Given the description of an element on the screen output the (x, y) to click on. 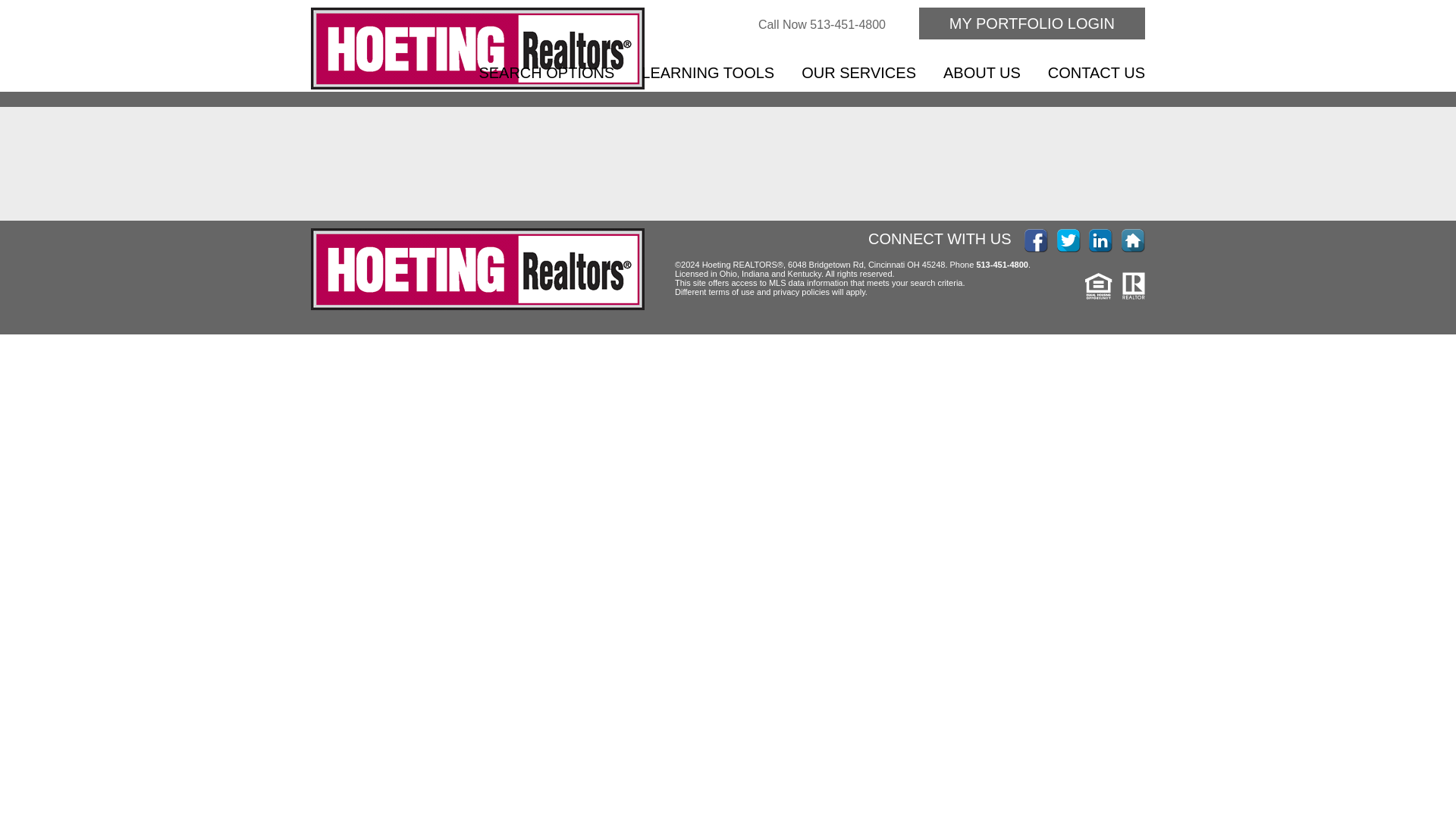
OUR SERVICES (858, 72)
SEARCH OPTIONS (546, 72)
CONTACT US (1096, 72)
MY PORTFOLIO LOGIN (1031, 23)
ABOUT US (981, 72)
LEARNING TOOLS (708, 72)
